Given the description of an element on the screen output the (x, y) to click on. 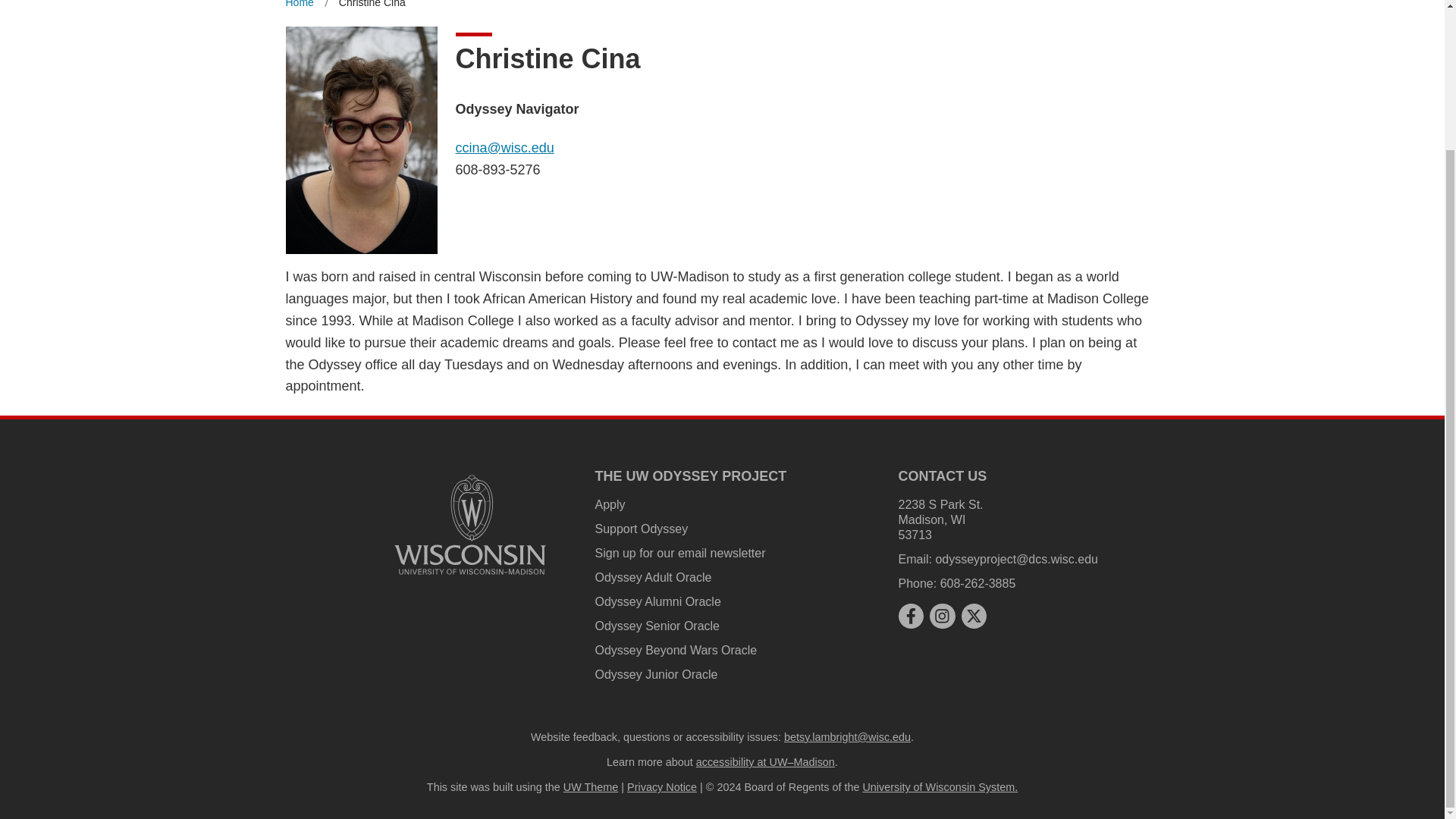
Christine Cina (372, 6)
Odyssey Alumni Oracle (657, 601)
Sign up for our email newsletter (679, 553)
Home (299, 6)
Support Odyssey (640, 528)
Apply (609, 504)
Odyssey Senior Oracle (656, 625)
University logo that links to main university website (470, 524)
University logo that links to main university website (470, 576)
Odyssey Adult Oracle (652, 576)
instagram (941, 616)
x twitter (973, 616)
Home (299, 6)
facebook (910, 616)
Christine Cina (372, 6)
